Given the description of an element on the screen output the (x, y) to click on. 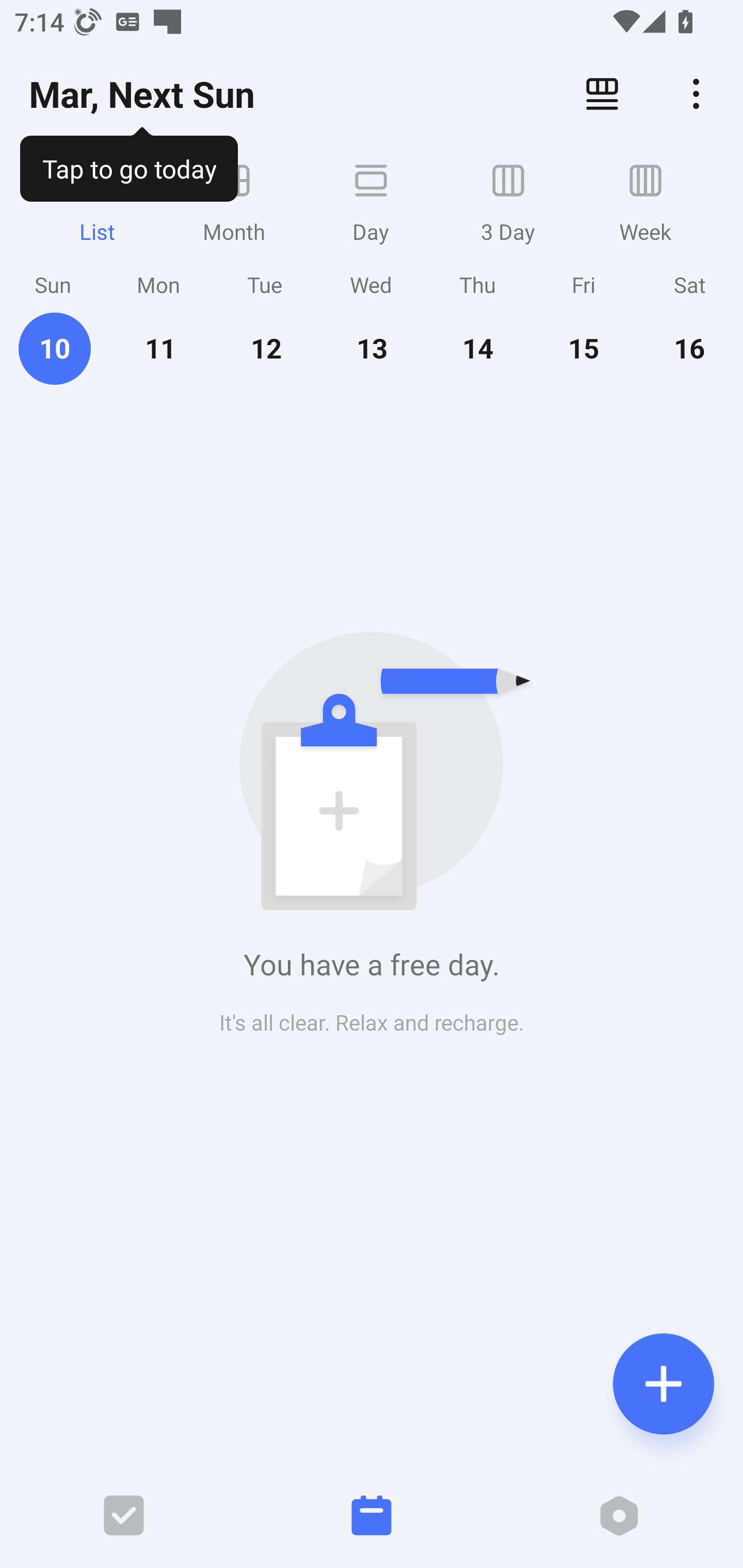
Mar, Next Sun (141, 93)
Tap to go today (128, 164)
Day (370, 202)
3 Day (507, 202)
Week (645, 202)
